Given the description of an element on the screen output the (x, y) to click on. 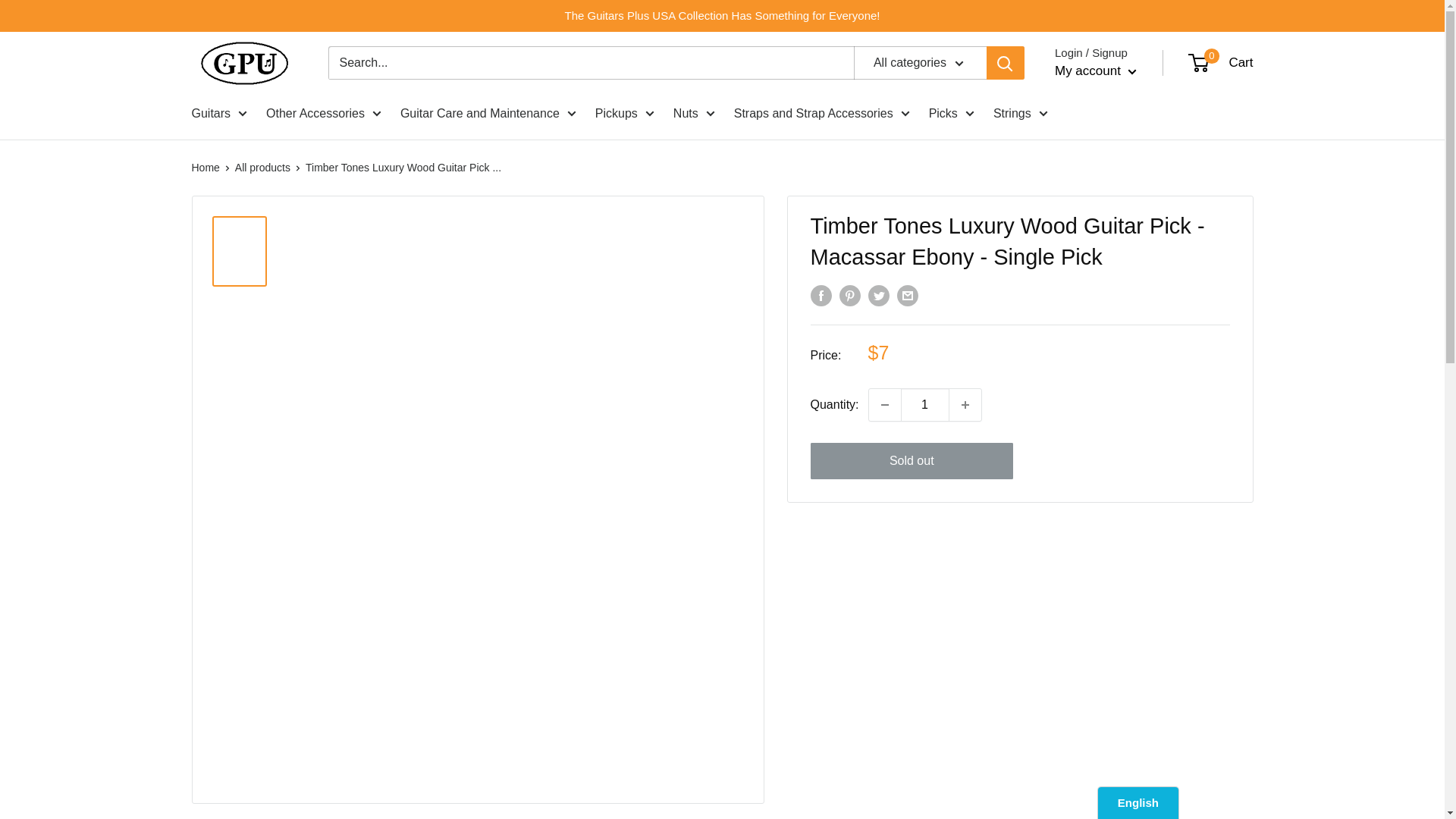
Increase quantity by 1 (965, 404)
Decrease quantity by 1 (885, 404)
1 (925, 404)
